Given the description of an element on the screen output the (x, y) to click on. 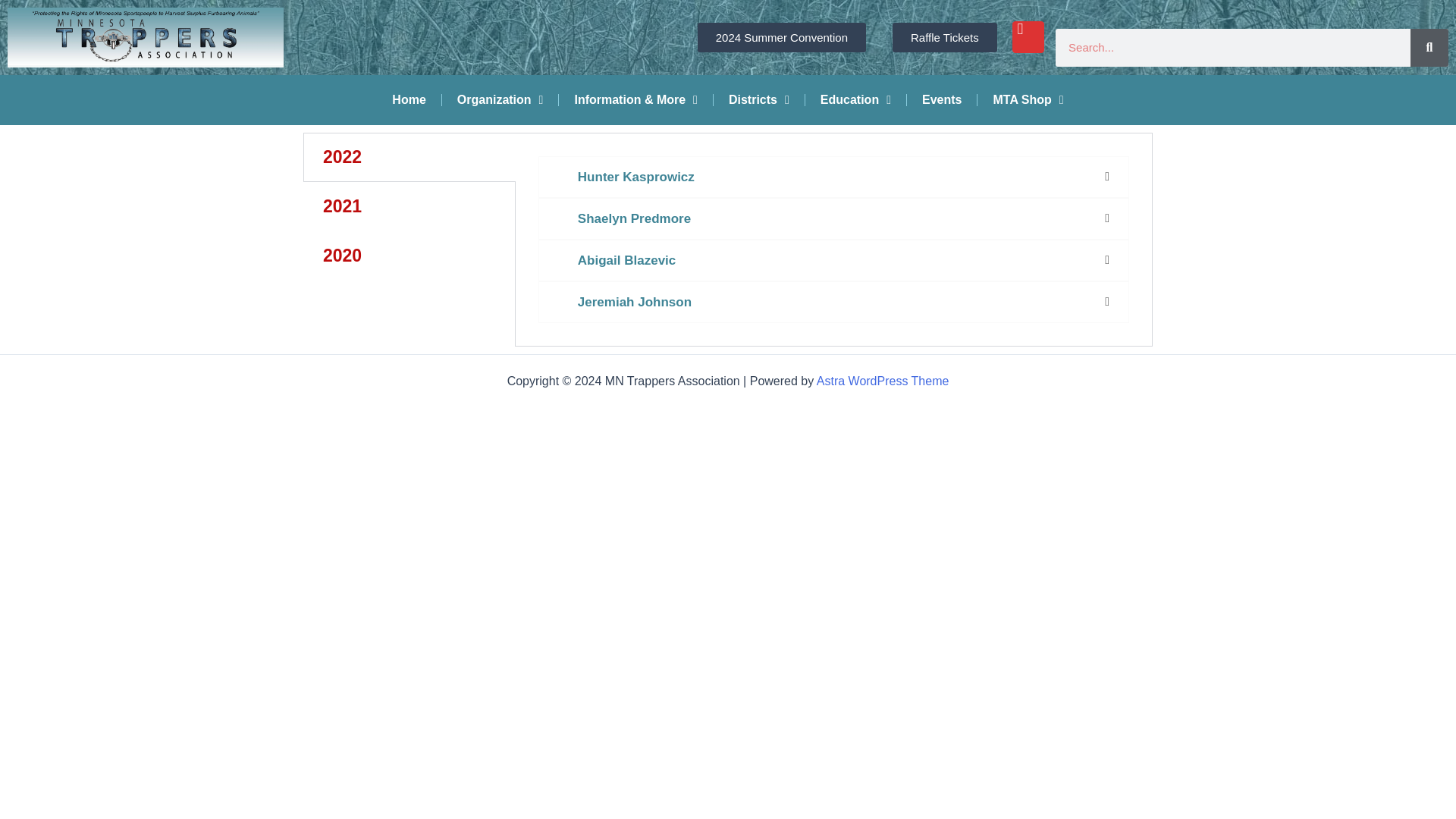
Raffle Tickets (944, 37)
Facebook (1027, 37)
Search (1429, 47)
2024 Summer Convention (781, 37)
Home (409, 99)
Organization (500, 99)
